Given the description of an element on the screen output the (x, y) to click on. 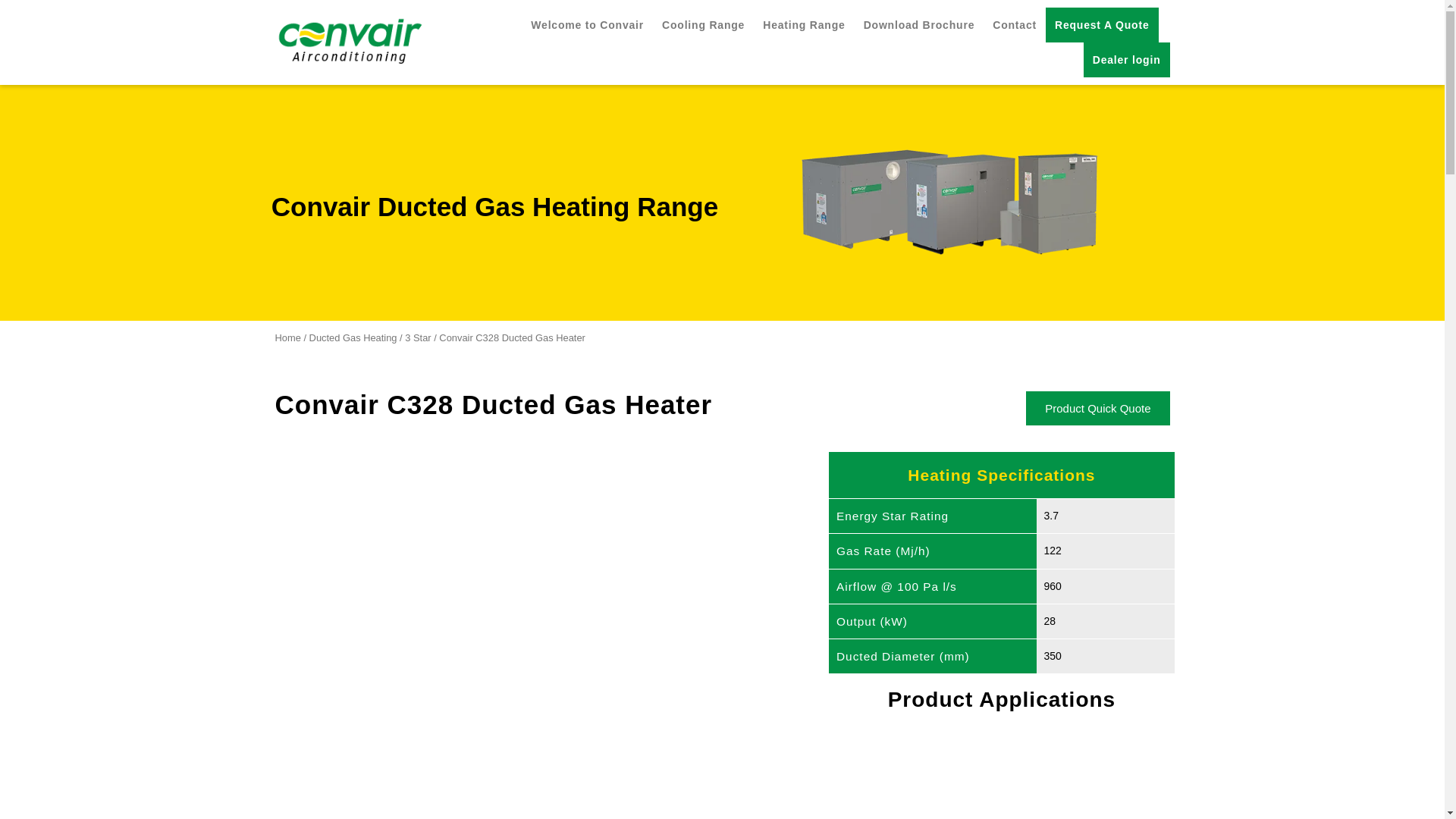
Product Quick Quote (1097, 408)
Download Brochure (919, 24)
Dealer login (1126, 59)
Request A Quote (1101, 24)
Heating Range (803, 24)
Home (287, 337)
Ducted Gas Heating (352, 337)
Cooling Range (703, 24)
3 Star (417, 337)
Contact (1014, 24)
